Given the description of an element on the screen output the (x, y) to click on. 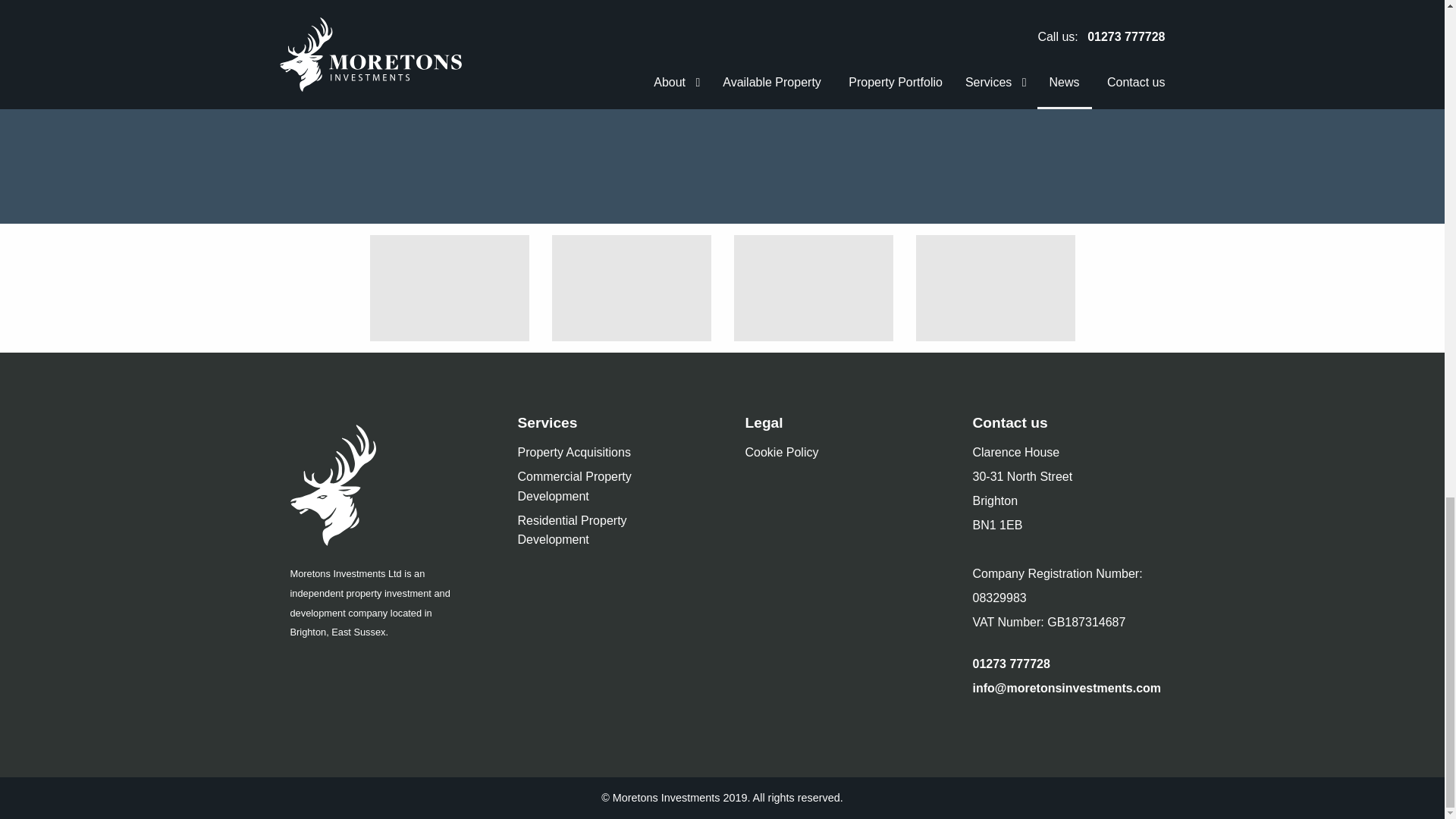
Cookie Policy (781, 452)
Commercial Property Development (607, 486)
Property Acquisitions (573, 452)
Residential Property Development (607, 530)
01273 777728 (1010, 663)
Moretons Investments Ltd (380, 485)
